Given the description of an element on the screen output the (x, y) to click on. 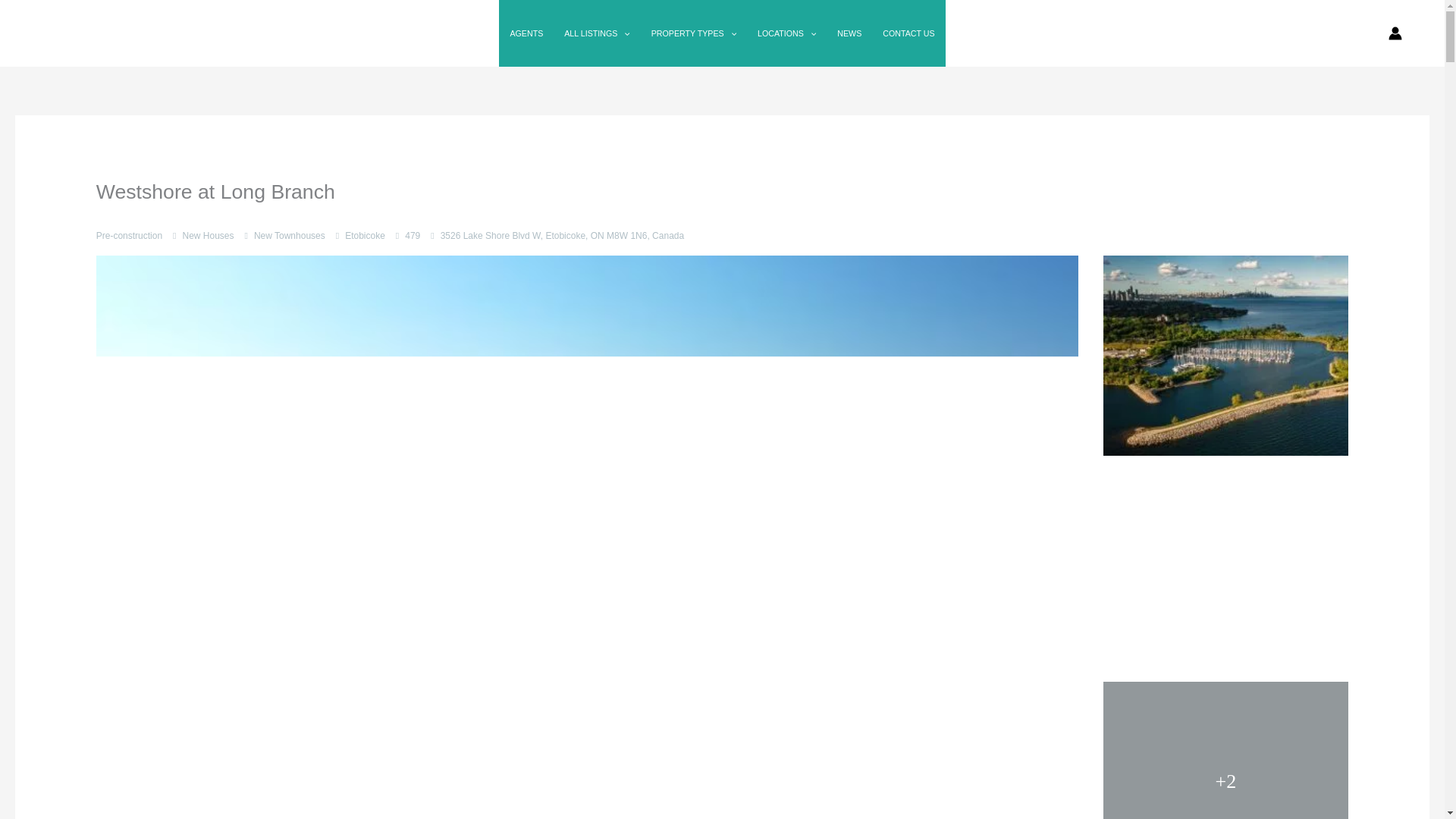
PROPERTY TYPES (693, 33)
ALL LISTINGS (596, 33)
LOCATIONS (786, 33)
